Given the description of an element on the screen output the (x, y) to click on. 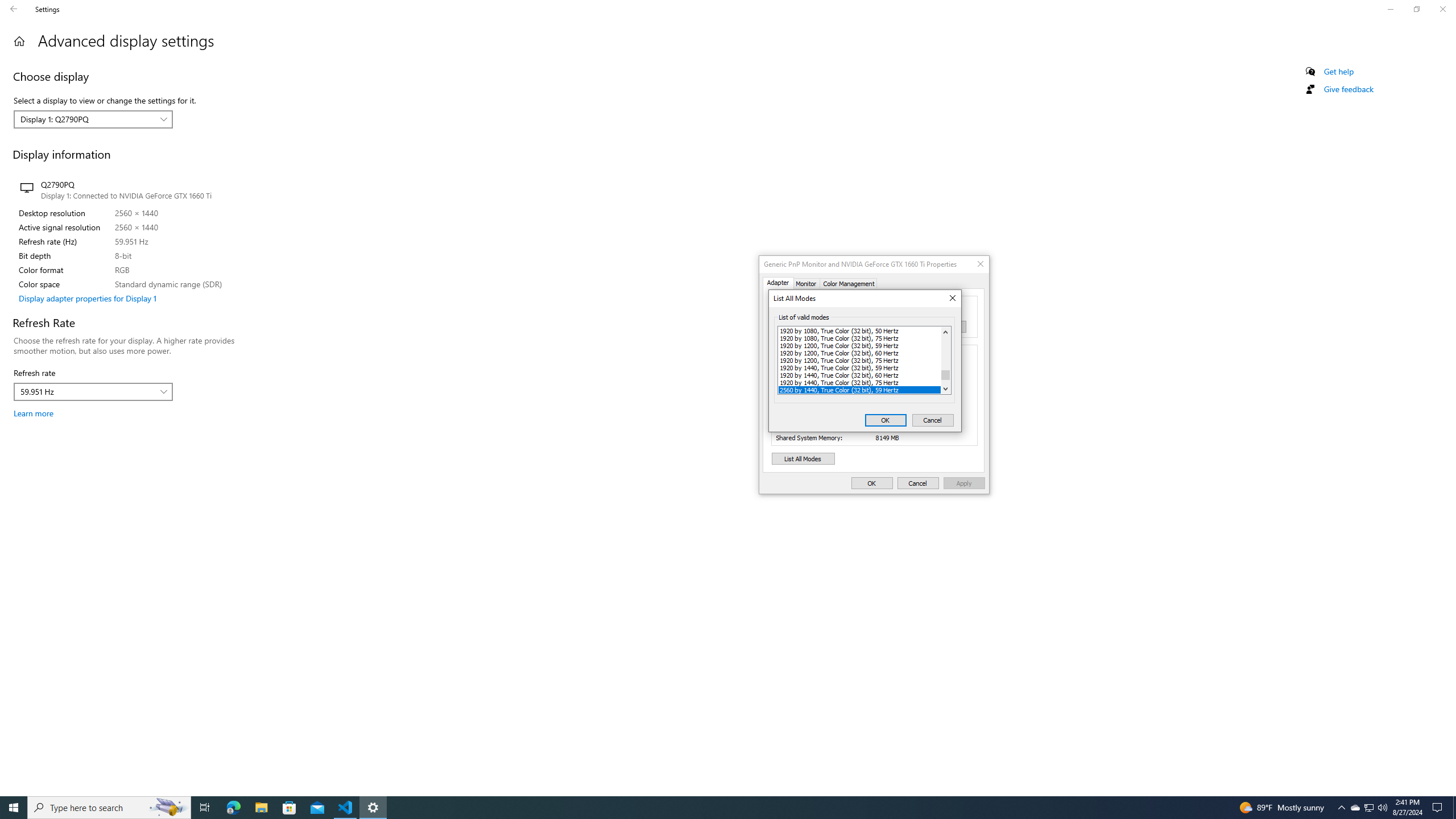
Start (13, 807)
Task View (204, 807)
File Explorer (261, 807)
1920 by 1440, True Color (32 bit), 60 Hertz (859, 374)
1920 by 1080, True Color (32 bit), 75 Hertz (859, 337)
1920 by 1080, True Color (32 bit), 50 Hertz (859, 330)
Notification Chevron (1341, 807)
Settings - 1 running window (373, 807)
Running applications (717, 807)
User Promoted Notification Area (1368, 807)
1920 by 1440, True Color (32 bit), 59 Hertz (859, 367)
Vertical (945, 359)
Show desktop (1454, 807)
